Given the description of an element on the screen output the (x, y) to click on. 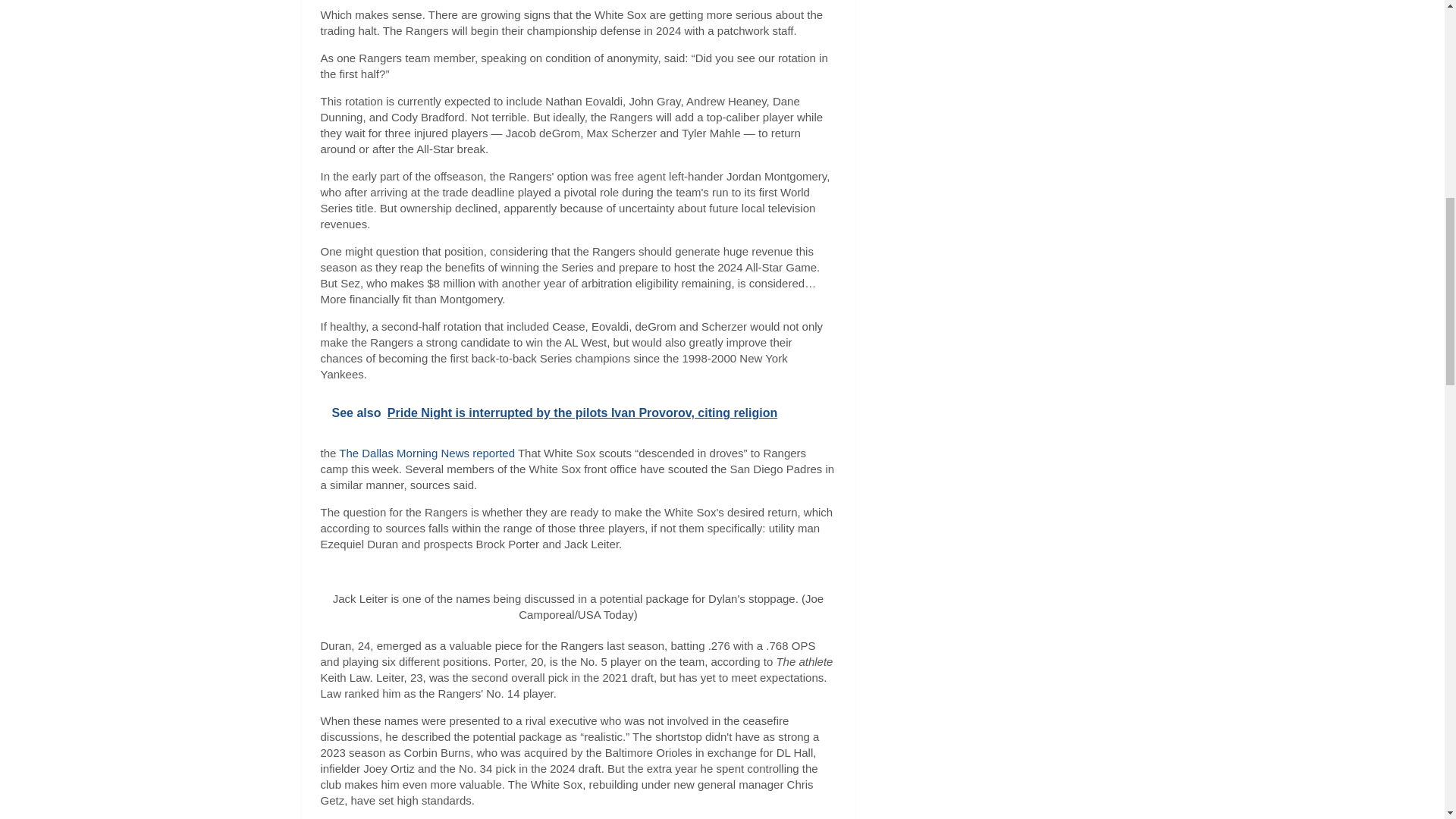
The Dallas Morning News reported (427, 452)
